Given the description of an element on the screen output the (x, y) to click on. 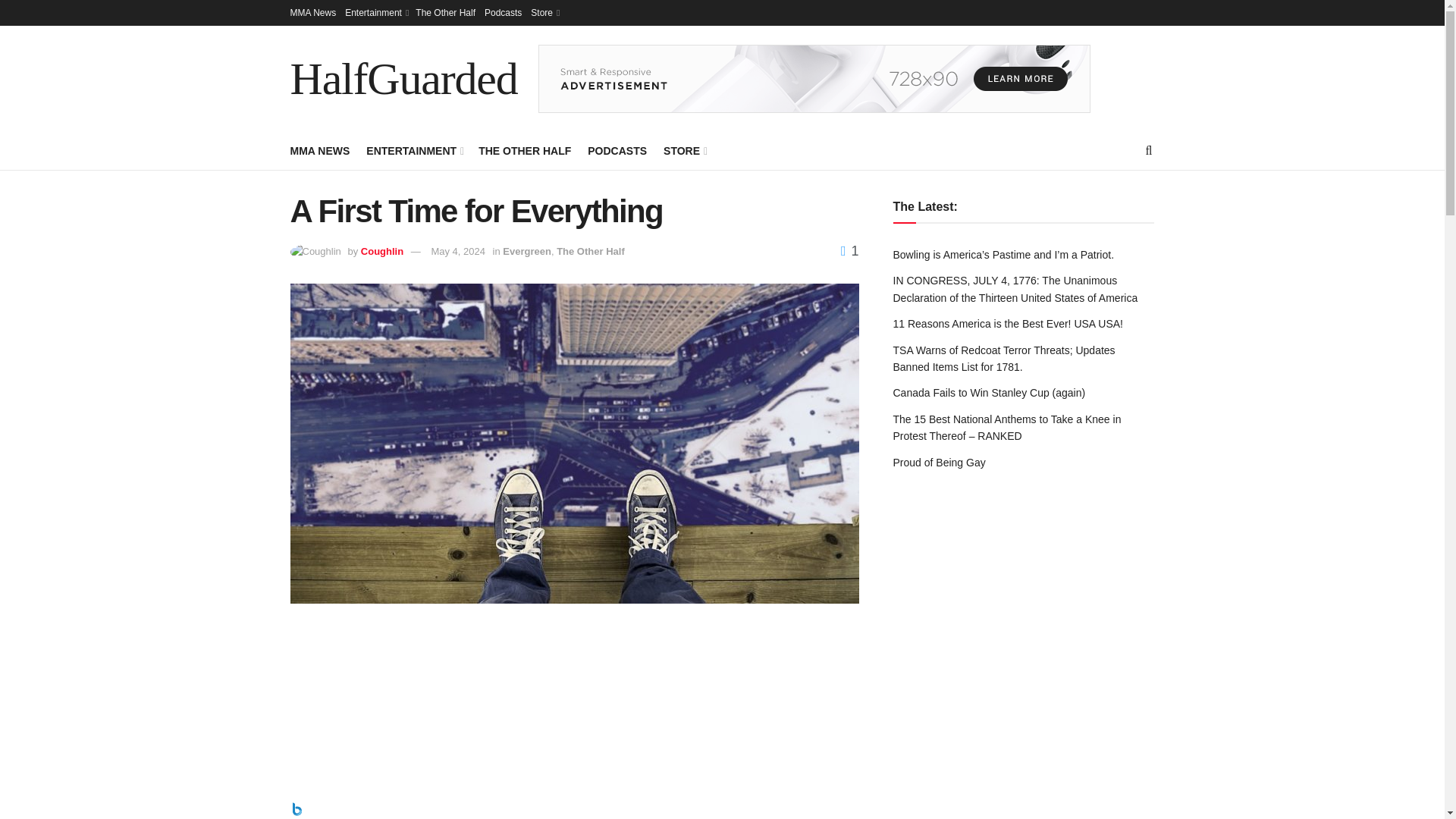
Entertainment (375, 12)
MMA News (312, 12)
